Given the description of an element on the screen output the (x, y) to click on. 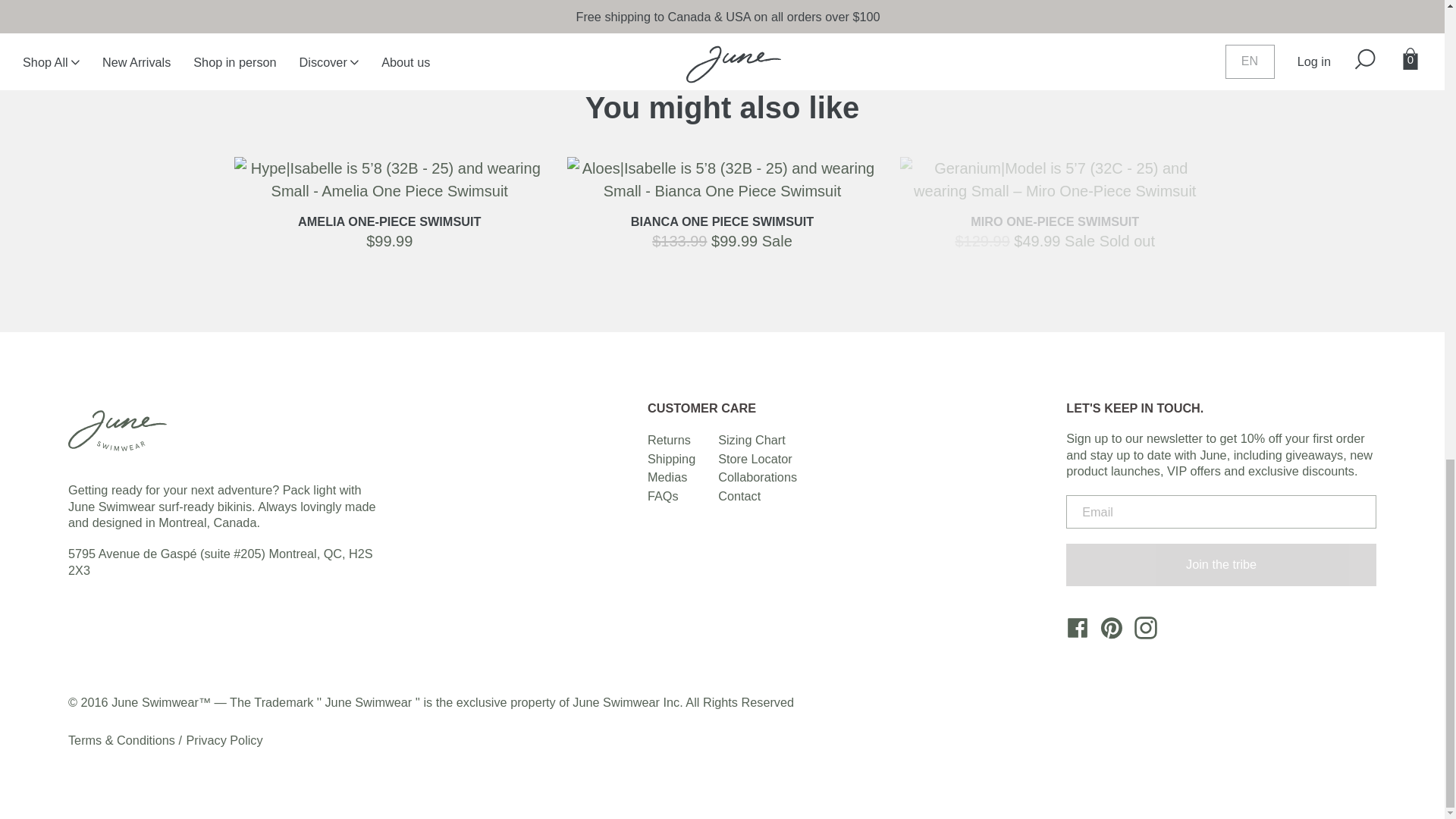
June Swimwear on Pinterest (1105, 633)
June Swimwear on Instagram (1139, 633)
June Swimwear on Facebook (1071, 633)
